Given the description of an element on the screen output the (x, y) to click on. 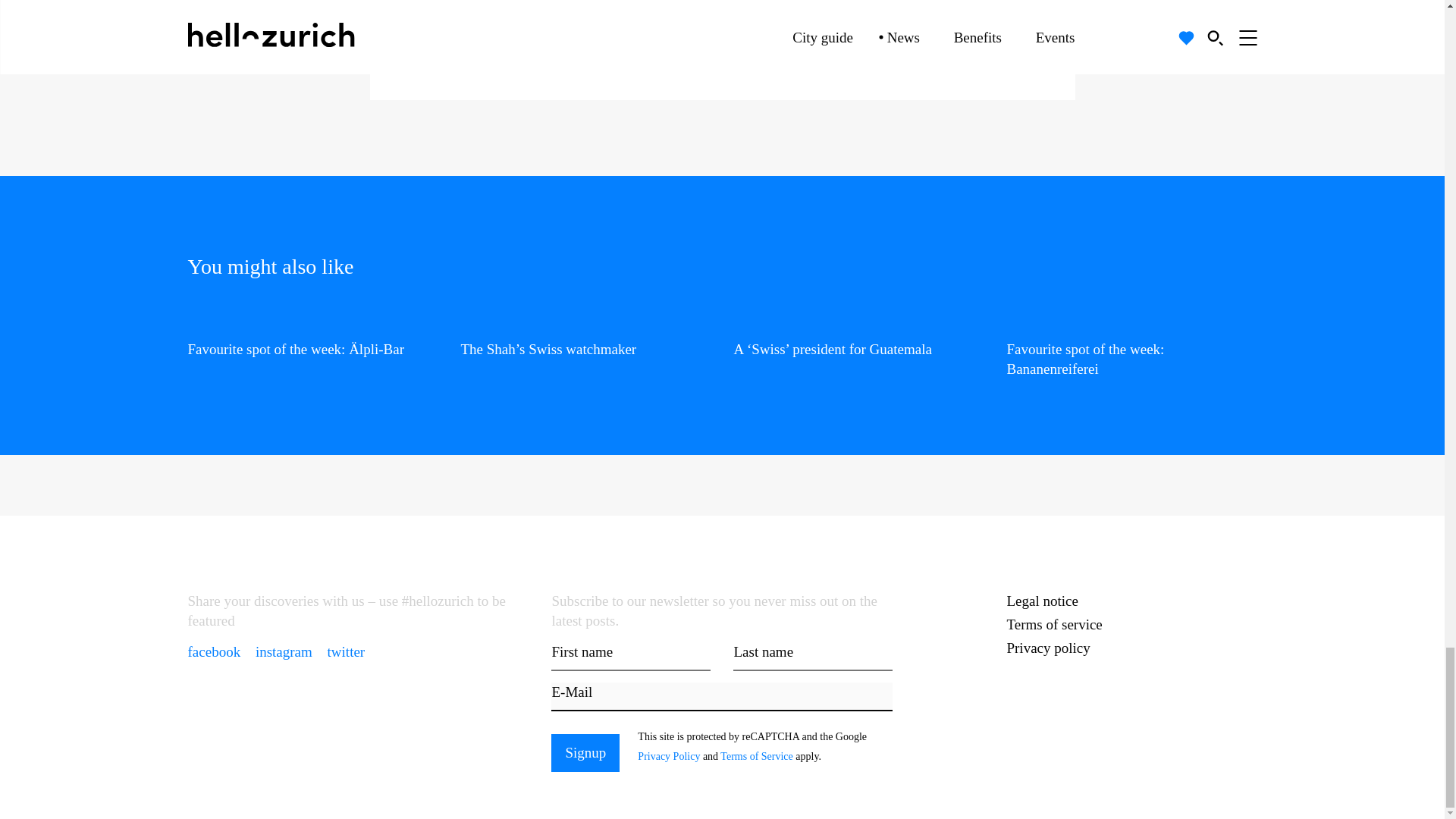
facebook (215, 651)
Terms of Service (881, 26)
First name (630, 656)
instagram (285, 651)
Signup (585, 752)
Favourite spot of the week: Bananenreiferei (1132, 345)
Last name (812, 656)
Privacy Policy (793, 26)
Signup (479, 43)
Signup (585, 752)
